Given the description of an element on the screen output the (x, y) to click on. 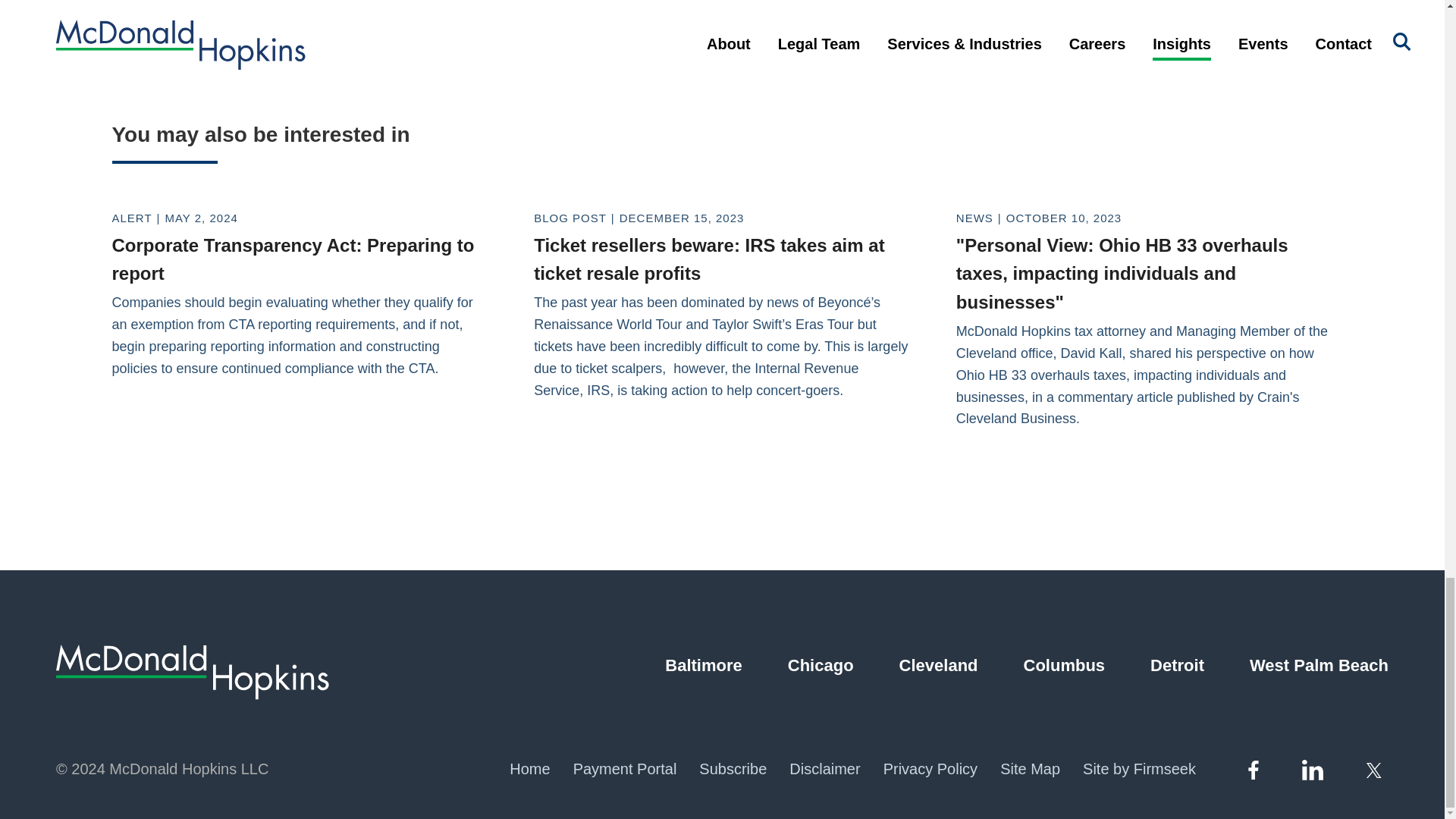
Twitter (1375, 770)
Linkedin (1312, 769)
